Given the description of an element on the screen output the (x, y) to click on. 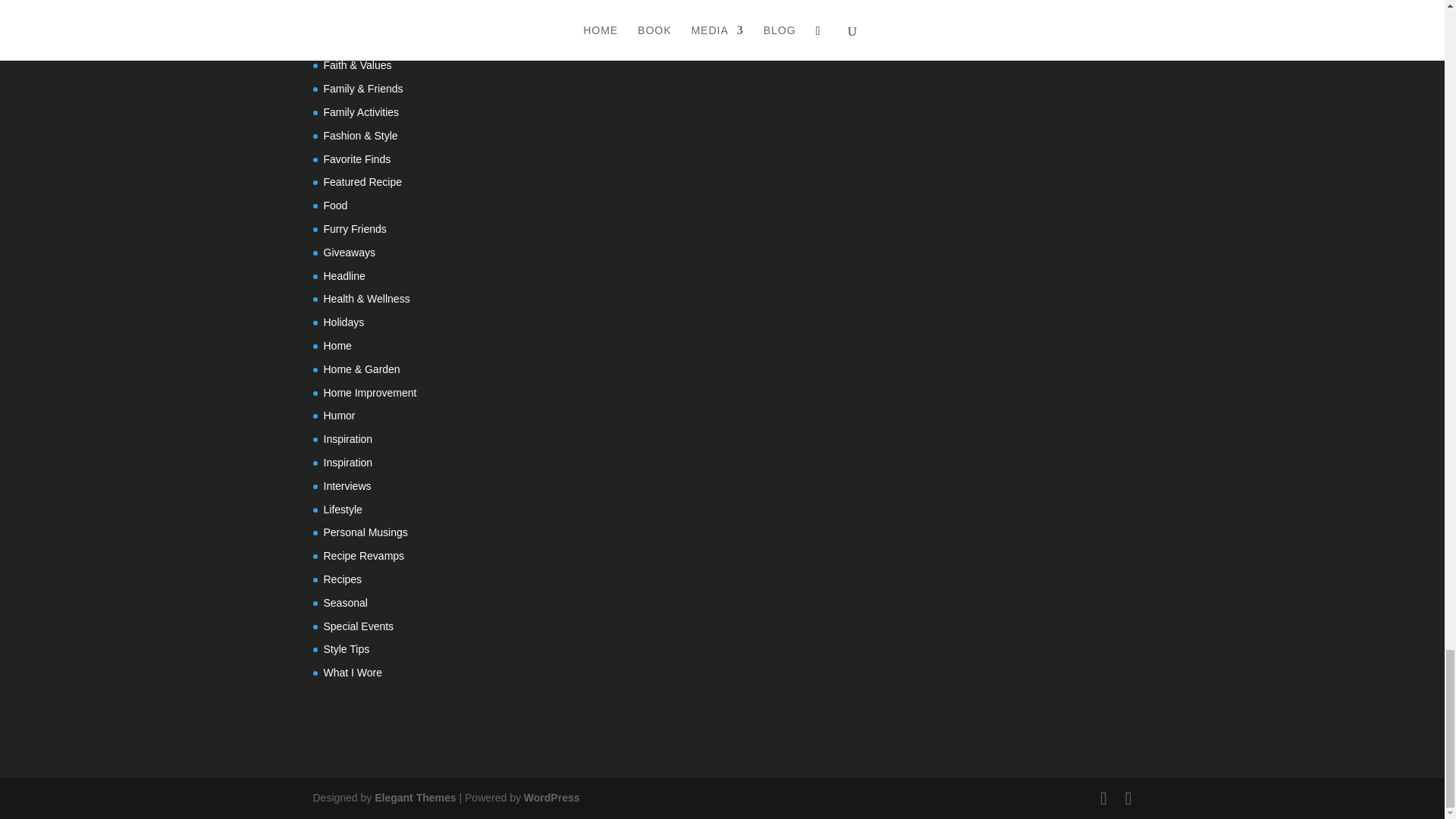
Premium WordPress Themes (414, 797)
